Given the description of an element on the screen output the (x, y) to click on. 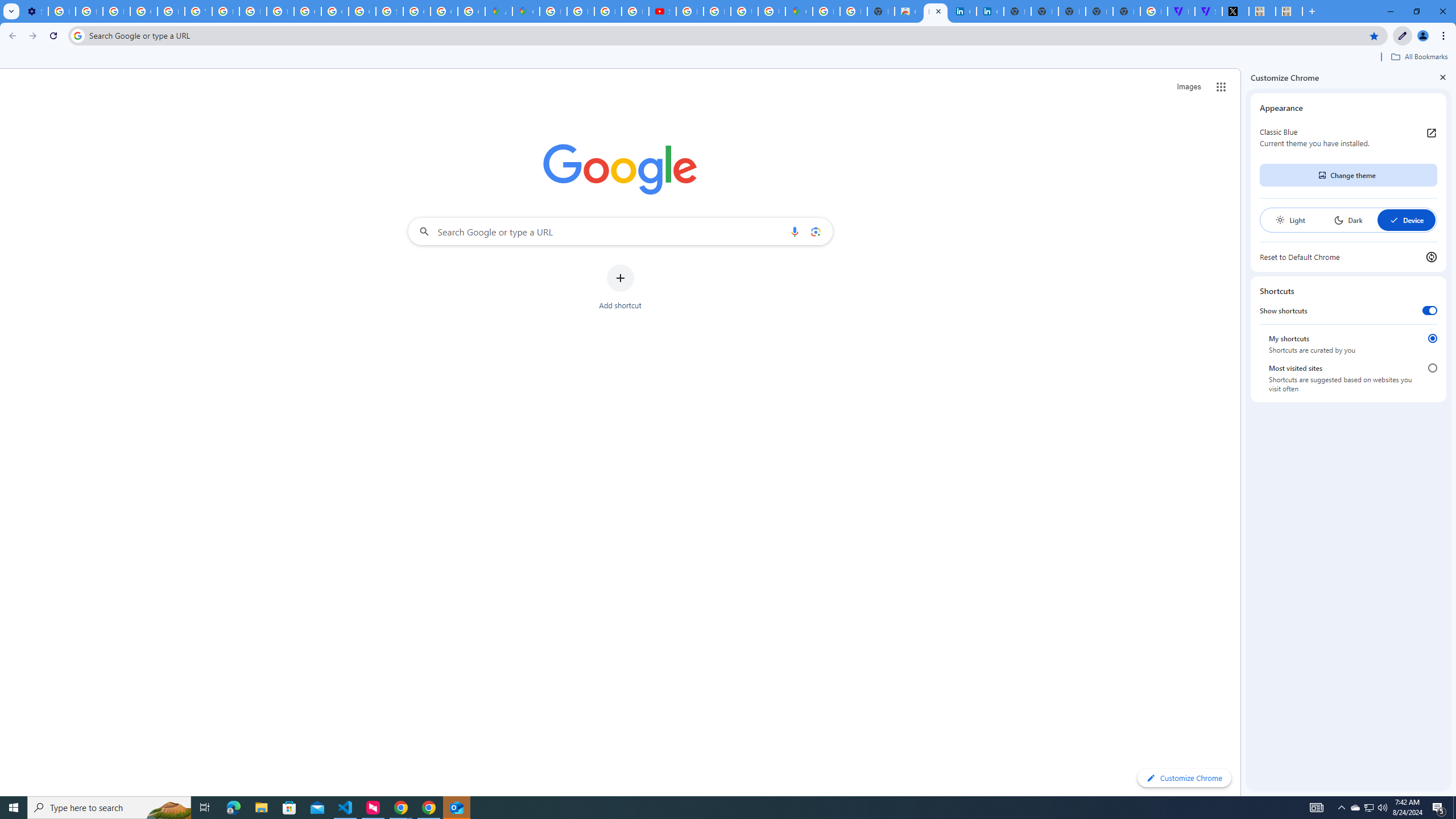
Light (1289, 219)
Chrome Web Store (908, 11)
Show shortcuts (1429, 310)
Privacy Help Center - Policies Help (607, 11)
Blogger Policies and Guidelines - Transparency Center (553, 11)
